Given the description of an element on the screen output the (x, y) to click on. 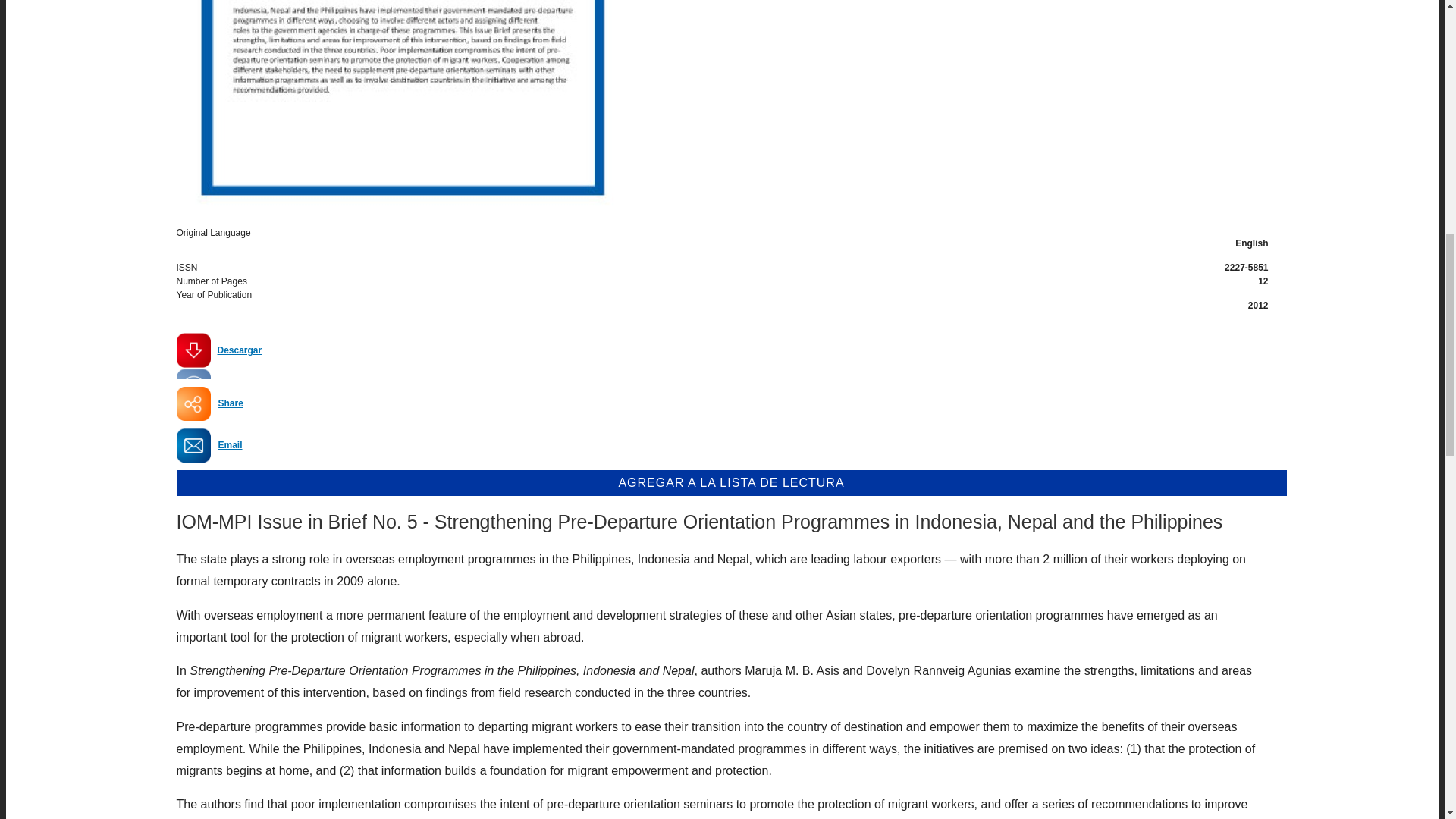
Descargar (219, 355)
AGREGAR A LA LISTA DE LECTURA (730, 483)
Share (230, 403)
Email (230, 444)
